Given the description of an element on the screen output the (x, y) to click on. 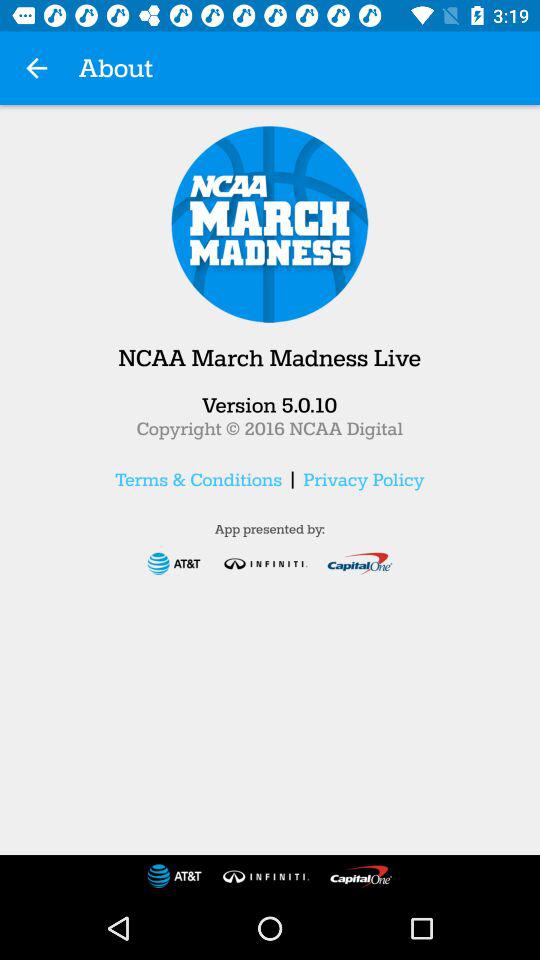
select the logos which are in the bottom (269, 875)
select the first logo which is just below the text app presented by (173, 563)
